Given the description of an element on the screen output the (x, y) to click on. 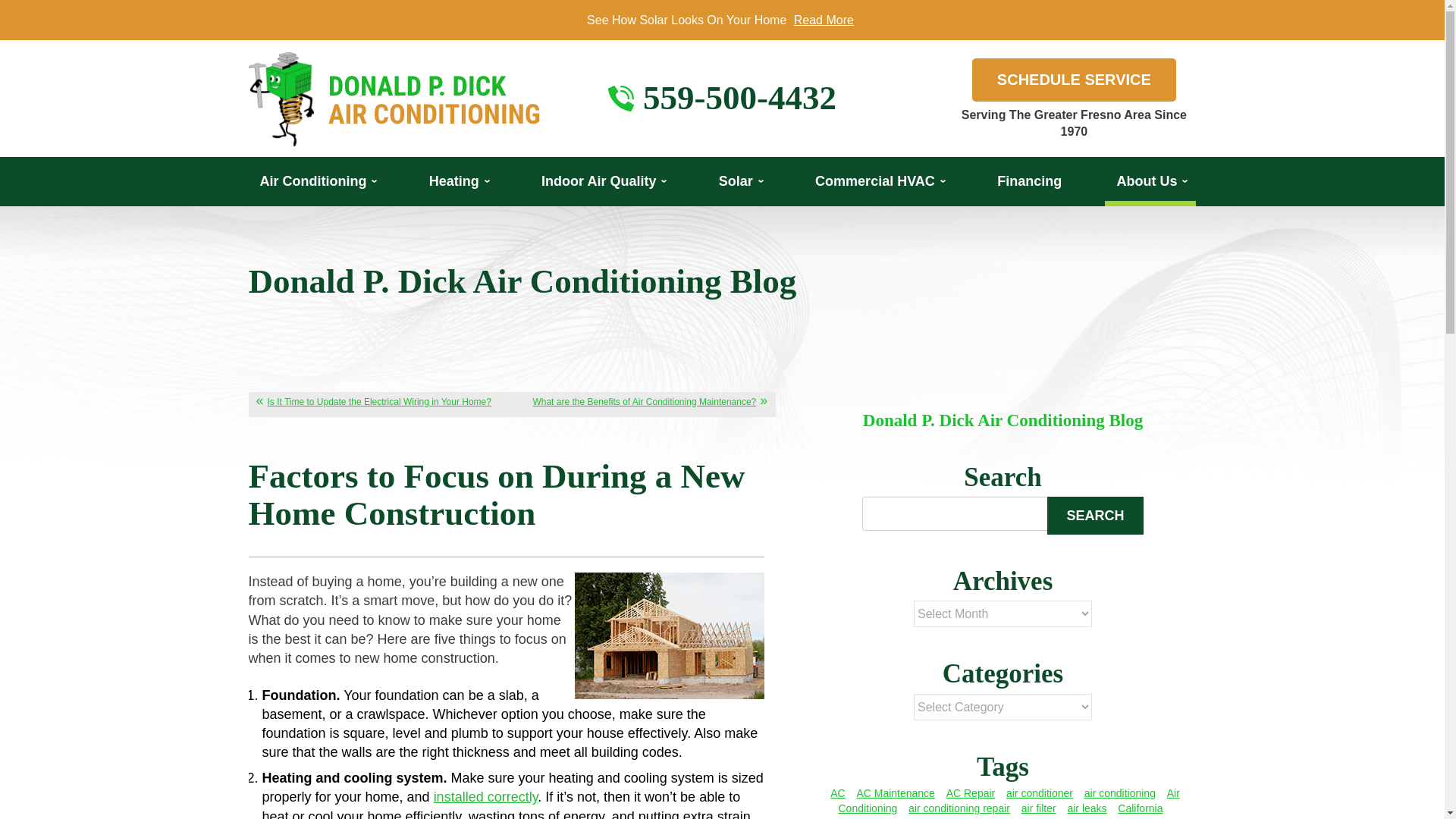
Read More (823, 19)
Heating (457, 181)
559-500-4432 (739, 97)
Indoor Air Quality (602, 181)
Air Conditioning (316, 181)
SCHEDULE SERVICE (1074, 79)
